Given the description of an element on the screen output the (x, y) to click on. 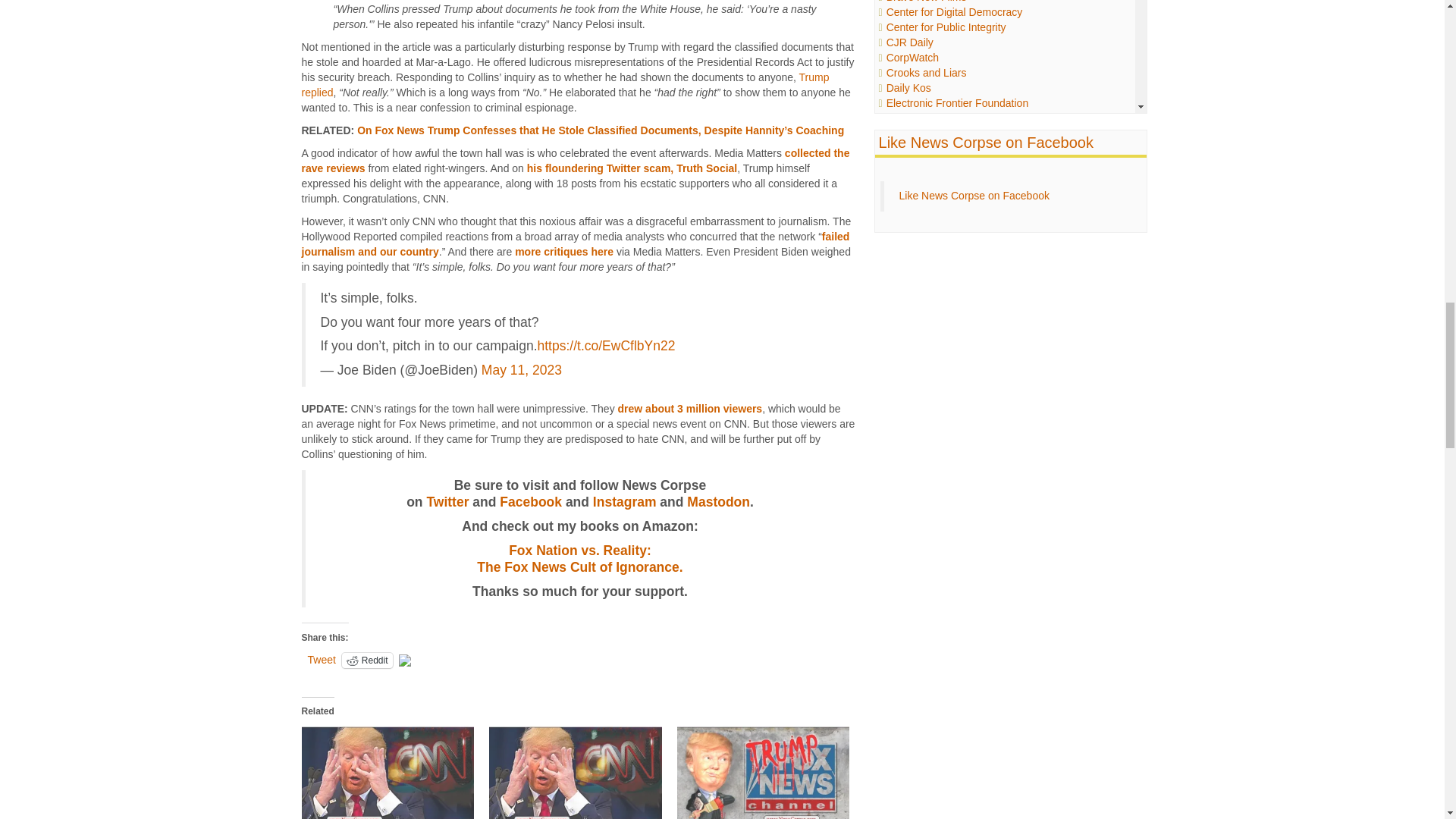
May 11, 2023 (521, 369)
his floundering Twitter scam, Truth Social (631, 168)
Trump replied (565, 84)
collected the rave reviews (575, 160)
failed journalism and our country (575, 243)
more critiques here (563, 251)
Click to share on Reddit (367, 660)
